Given the description of an element on the screen output the (x, y) to click on. 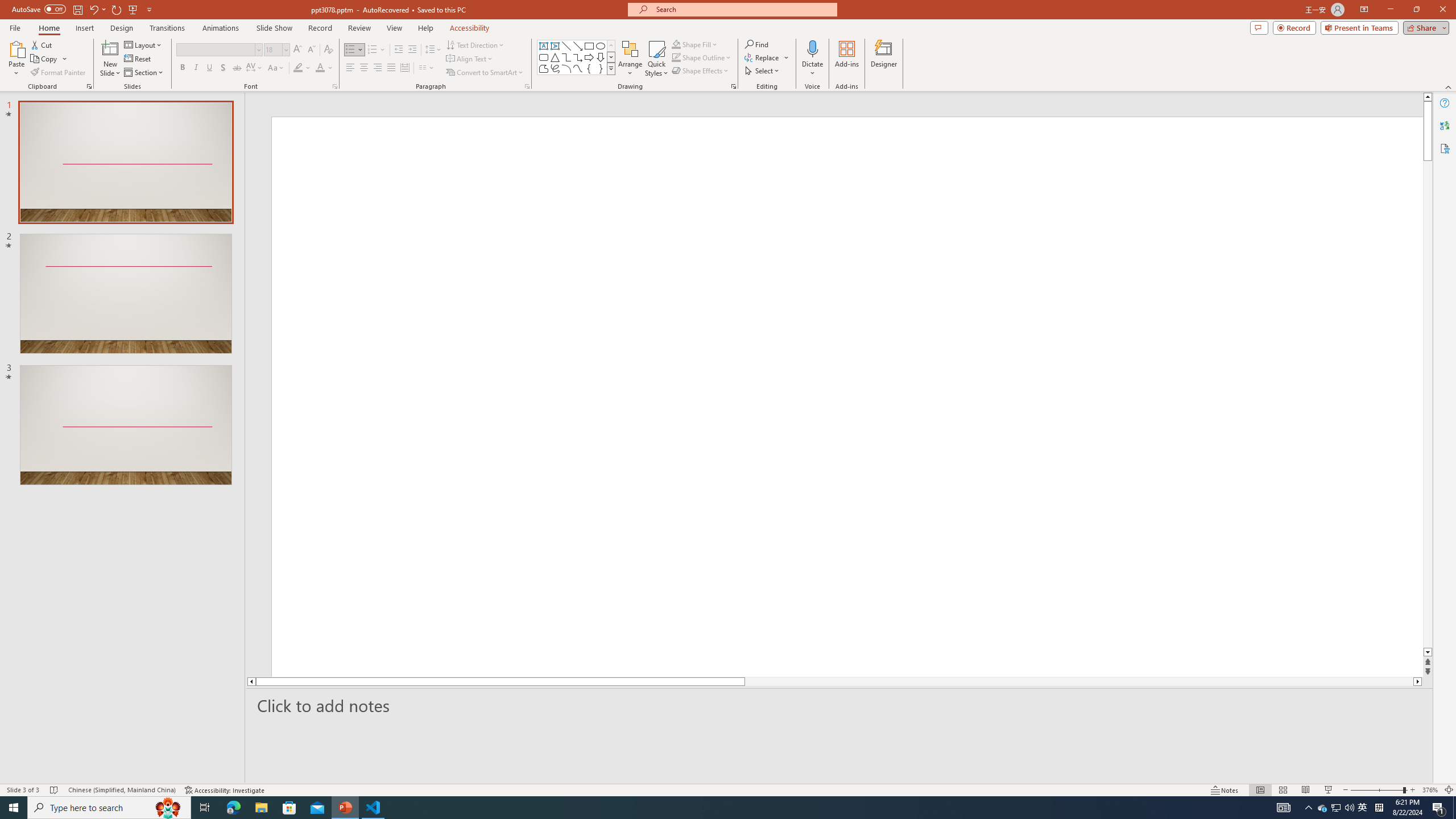
Shape Effects (700, 69)
